Given the description of an element on the screen output the (x, y) to click on. 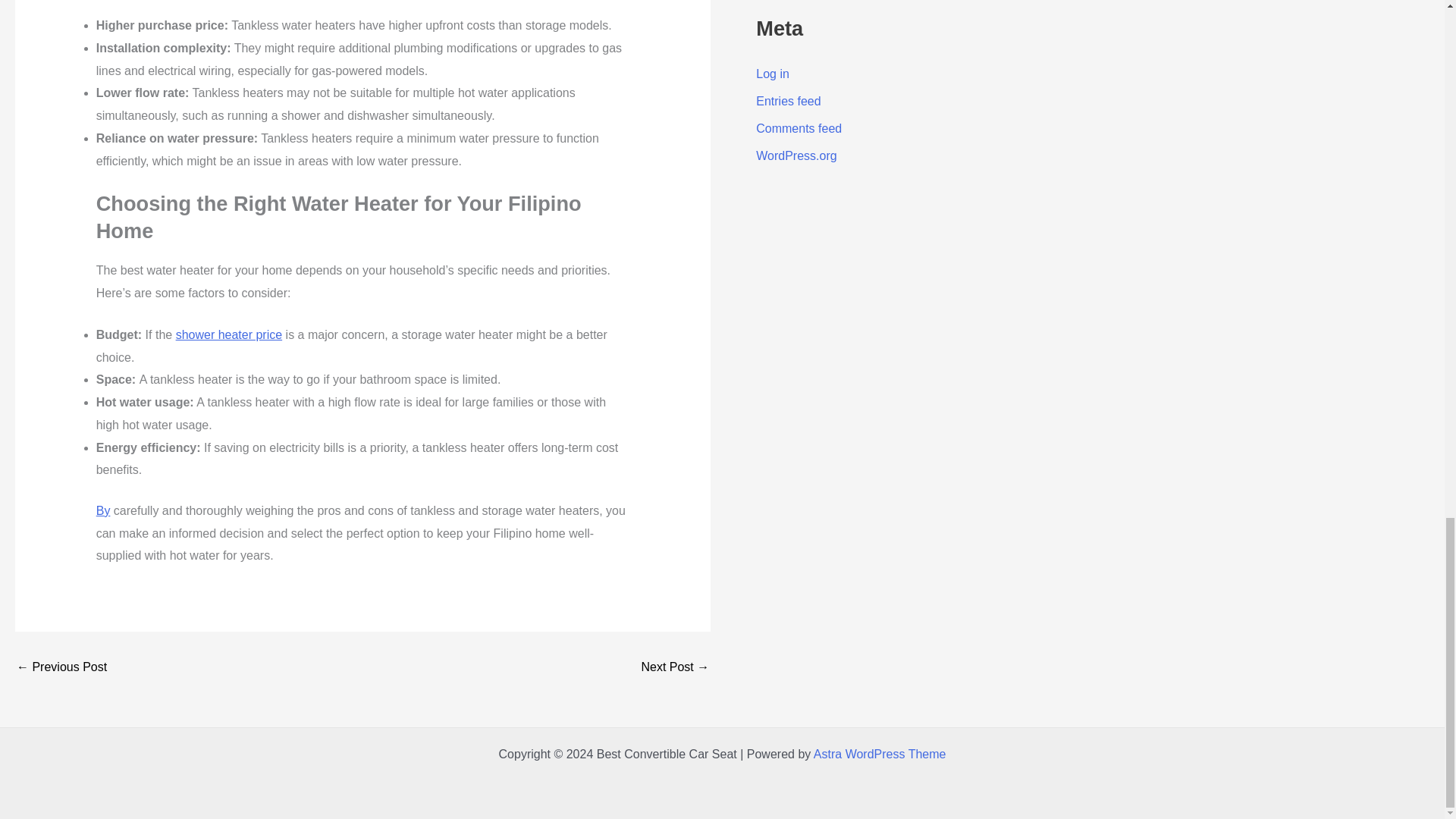
shower heater price (229, 334)
By (103, 510)
